Given the description of an element on the screen output the (x, y) to click on. 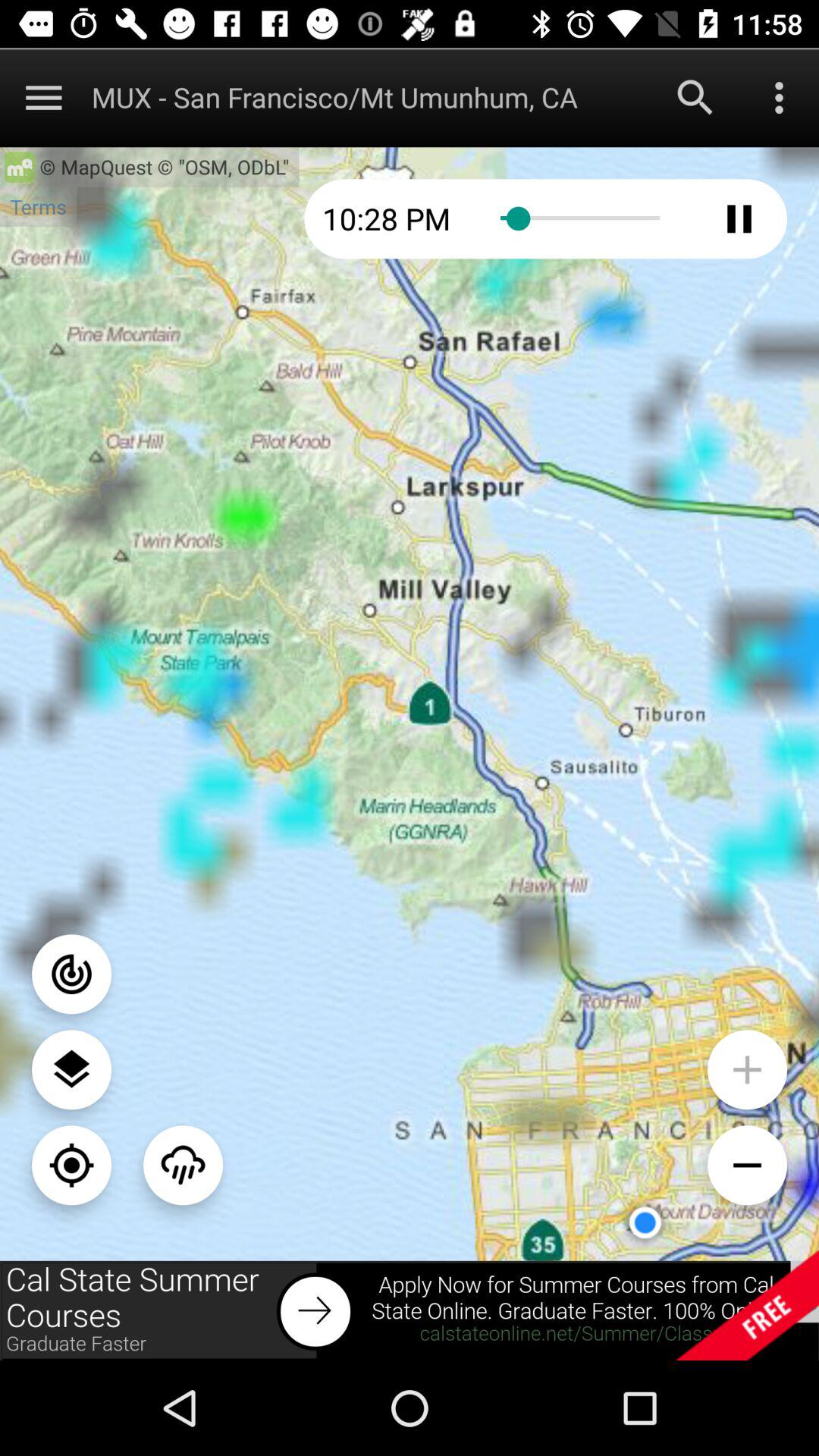
center your location on map (71, 1165)
